Given the description of an element on the screen output the (x, y) to click on. 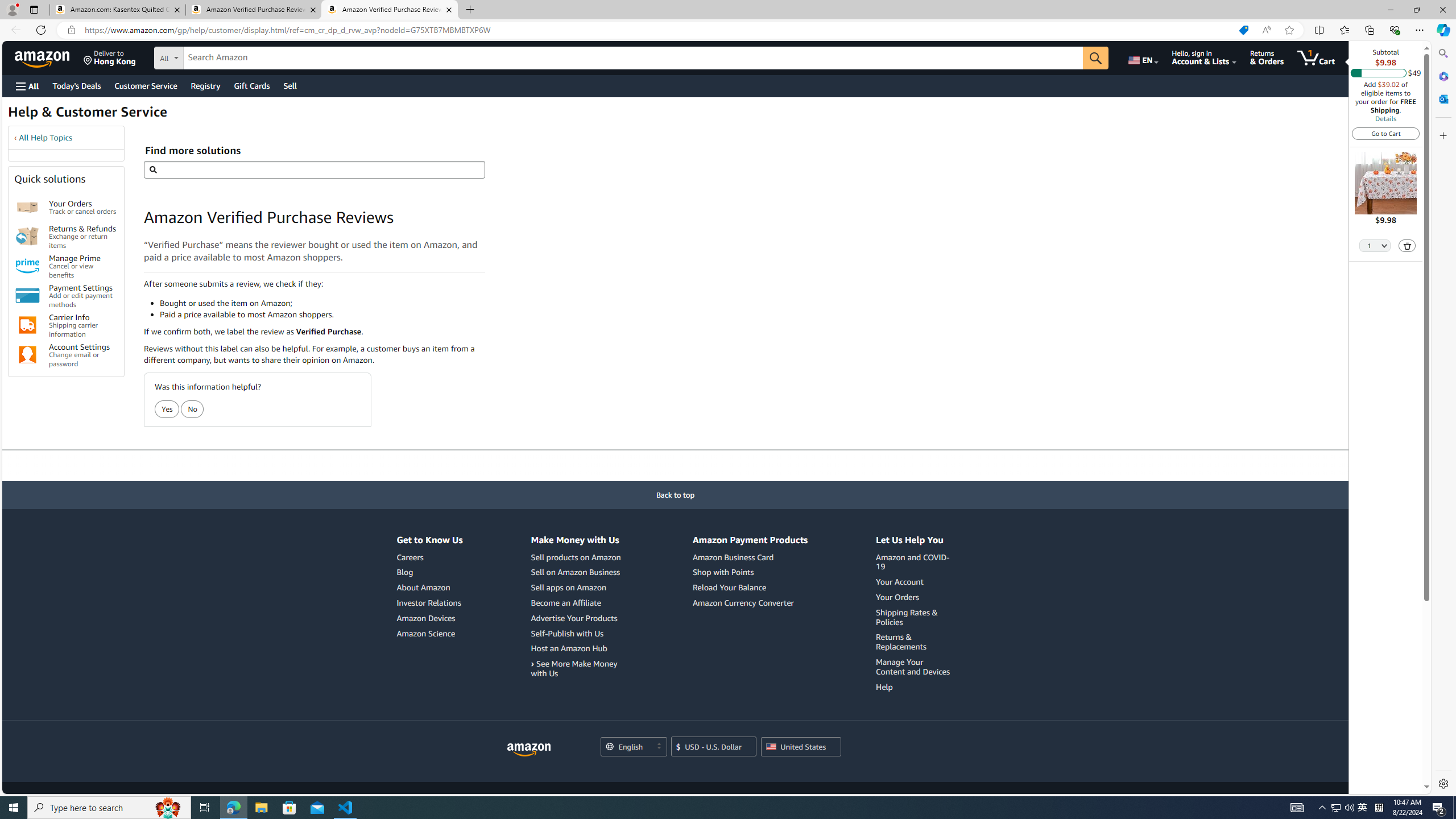
Returns & Orders (1266, 57)
Browser essentials (1394, 29)
Shopping in Microsoft Edge (1243, 29)
Sell apps on Amazon (568, 587)
Settings (1442, 783)
Manage Prime (27, 266)
Delete (1407, 245)
Amazon Business Card (732, 557)
